Given the description of an element on the screen output the (x, y) to click on. 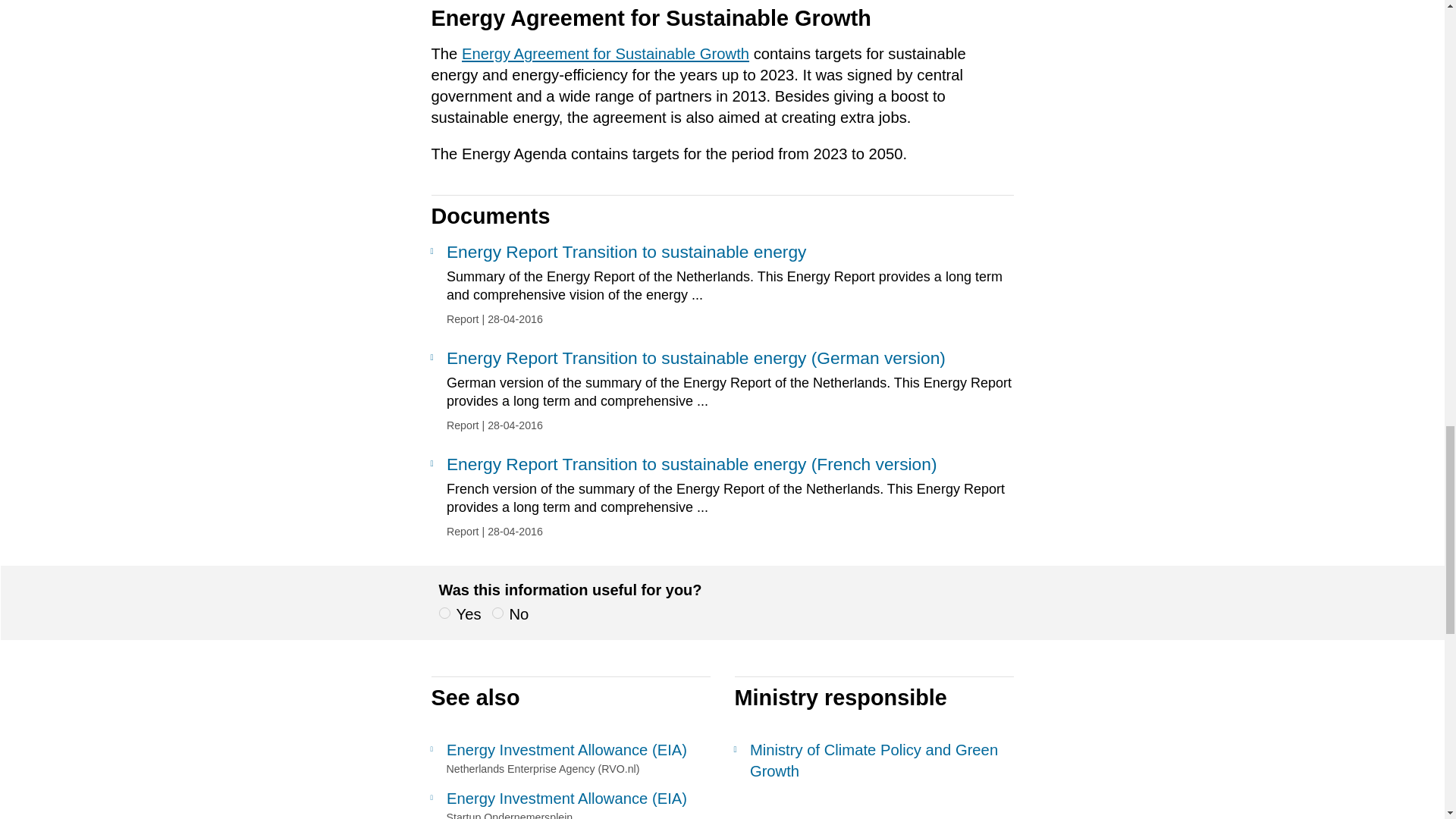
Energy Agreement for Sustainable Growth (605, 53)
nee (497, 613)
ja (443, 613)
Ministry of Climate Policy and Green Growth (873, 760)
